Given the description of an element on the screen output the (x, y) to click on. 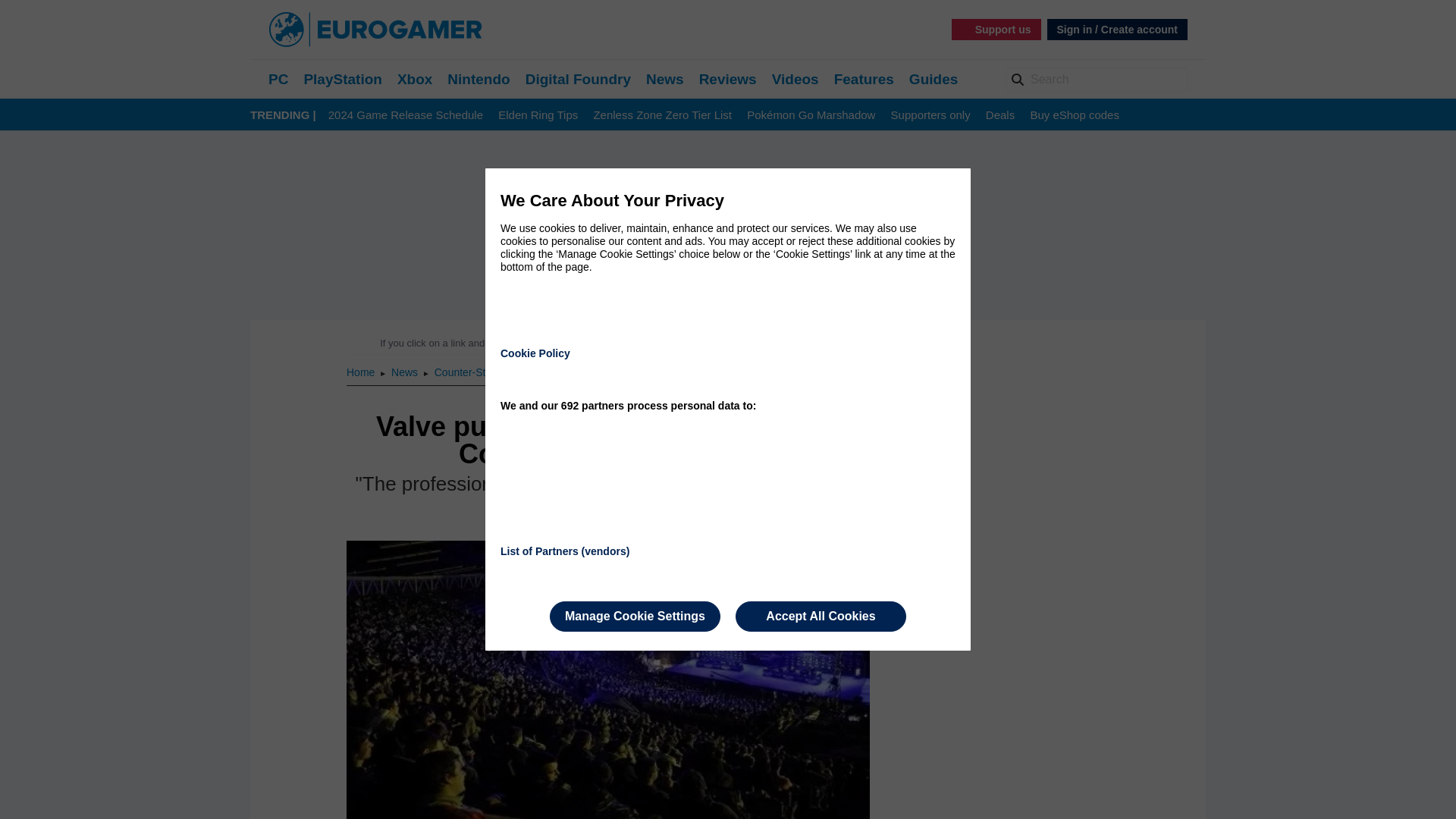
Reviews (727, 78)
Nintendo (477, 78)
Support us (996, 29)
Buy eShop codes (1074, 114)
Supporters only (931, 114)
2024 Game Release Schedule (406, 114)
Features (863, 78)
News (665, 78)
PlayStation (341, 78)
Counter-Strike: Global Offensive (509, 372)
Xbox (414, 78)
Zenless Zone Zero Tier List (662, 114)
News (405, 372)
Deals (999, 114)
Home (361, 372)
